Given the description of an element on the screen output the (x, y) to click on. 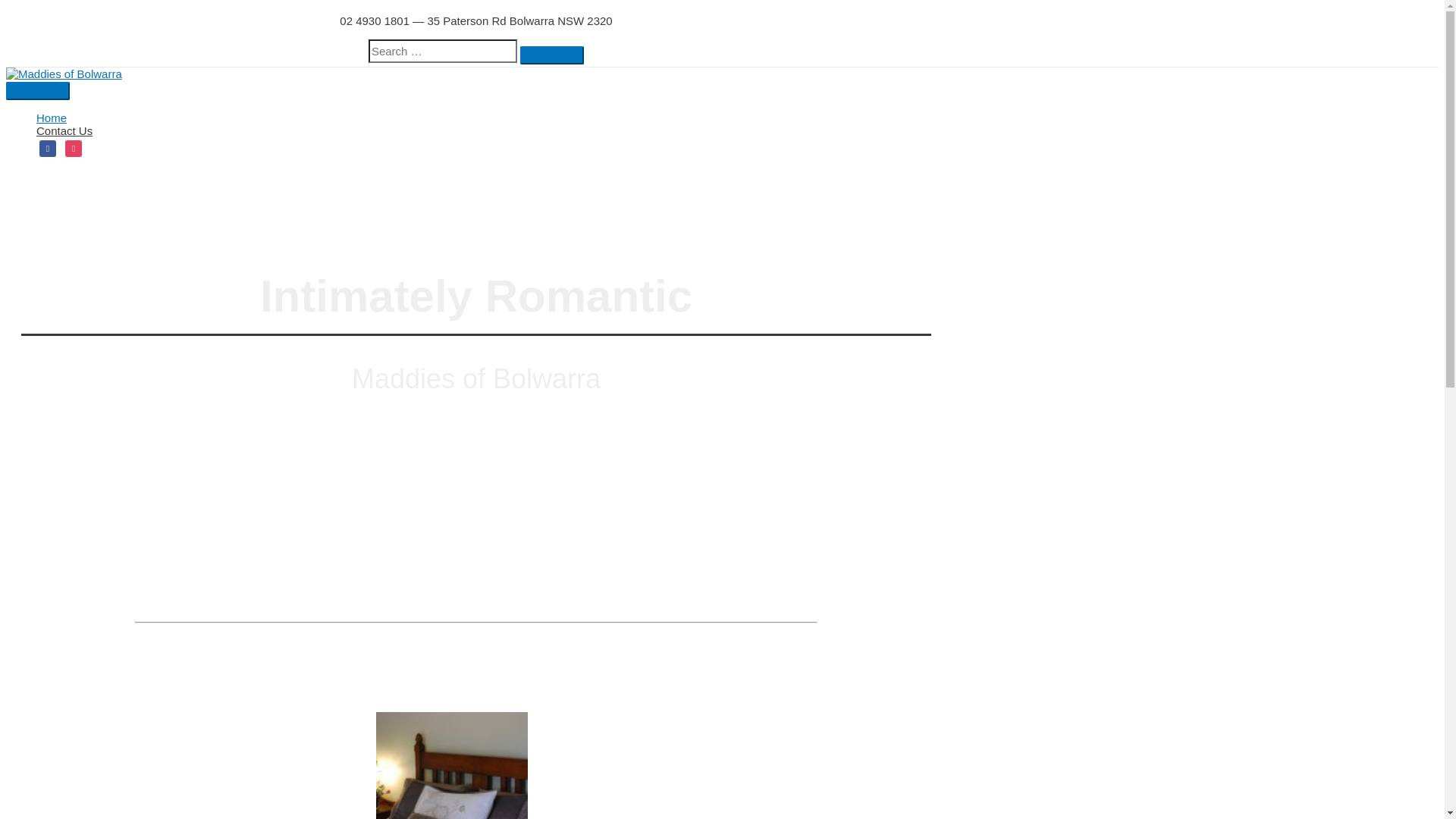
facebook Element type: text (47, 147)
Skip to content Element type: text (5, 5)
Main Menu Element type: text (37, 90)
Home Element type: text (491, 117)
Contact Us Element type: text (491, 130)
instagram Element type: text (73, 147)
Search Element type: text (551, 55)
